Given the description of an element on the screen output the (x, y) to click on. 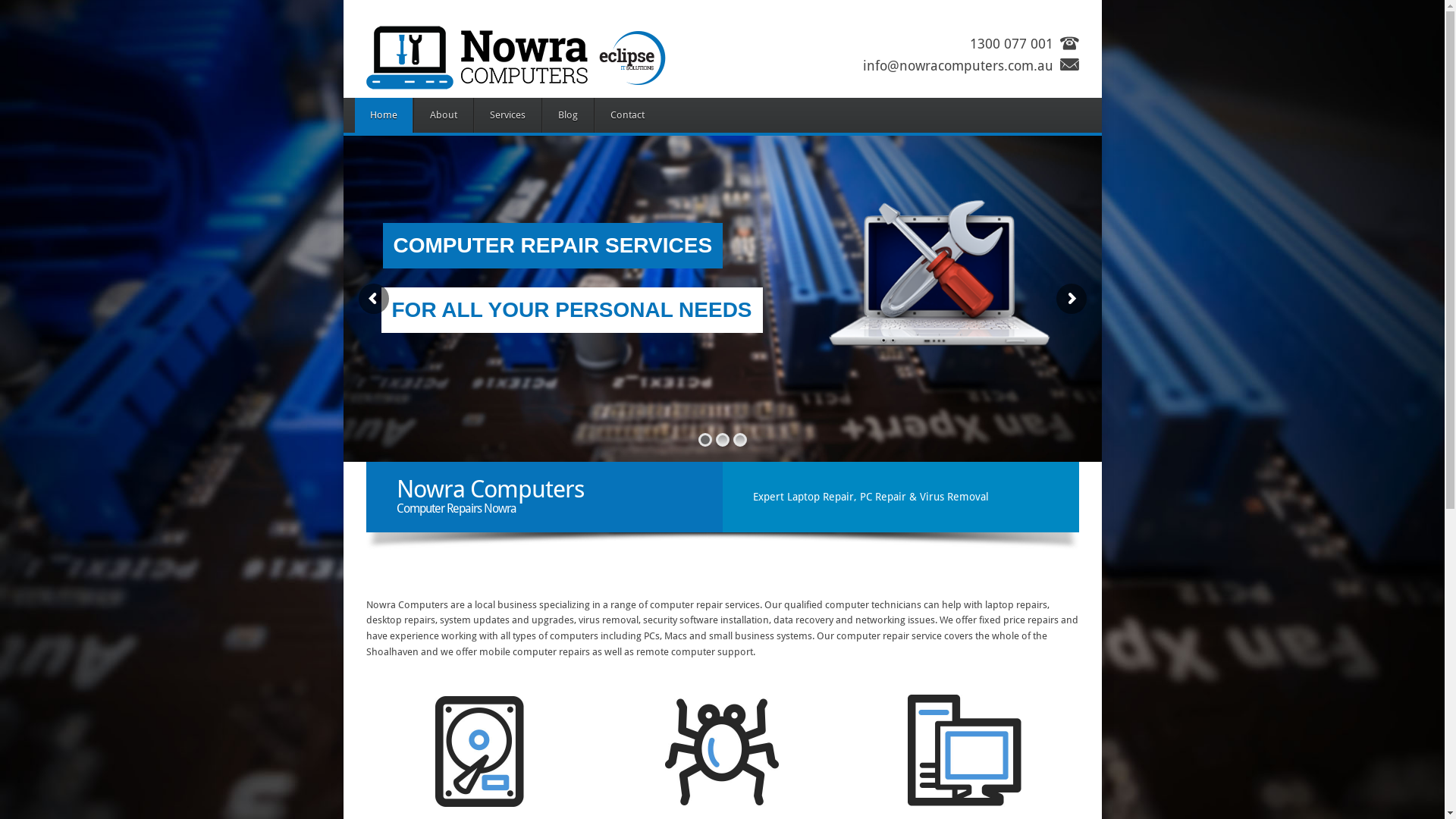
info@nowracomputers.com.au Element type: text (957, 65)
About Element type: text (443, 114)
Services Element type: text (506, 114)
1300 077 001 Element type: text (1010, 43)
Blog Element type: text (566, 114)
Contact Element type: text (626, 114)
Home Element type: text (383, 114)
